Given the description of an element on the screen output the (x, y) to click on. 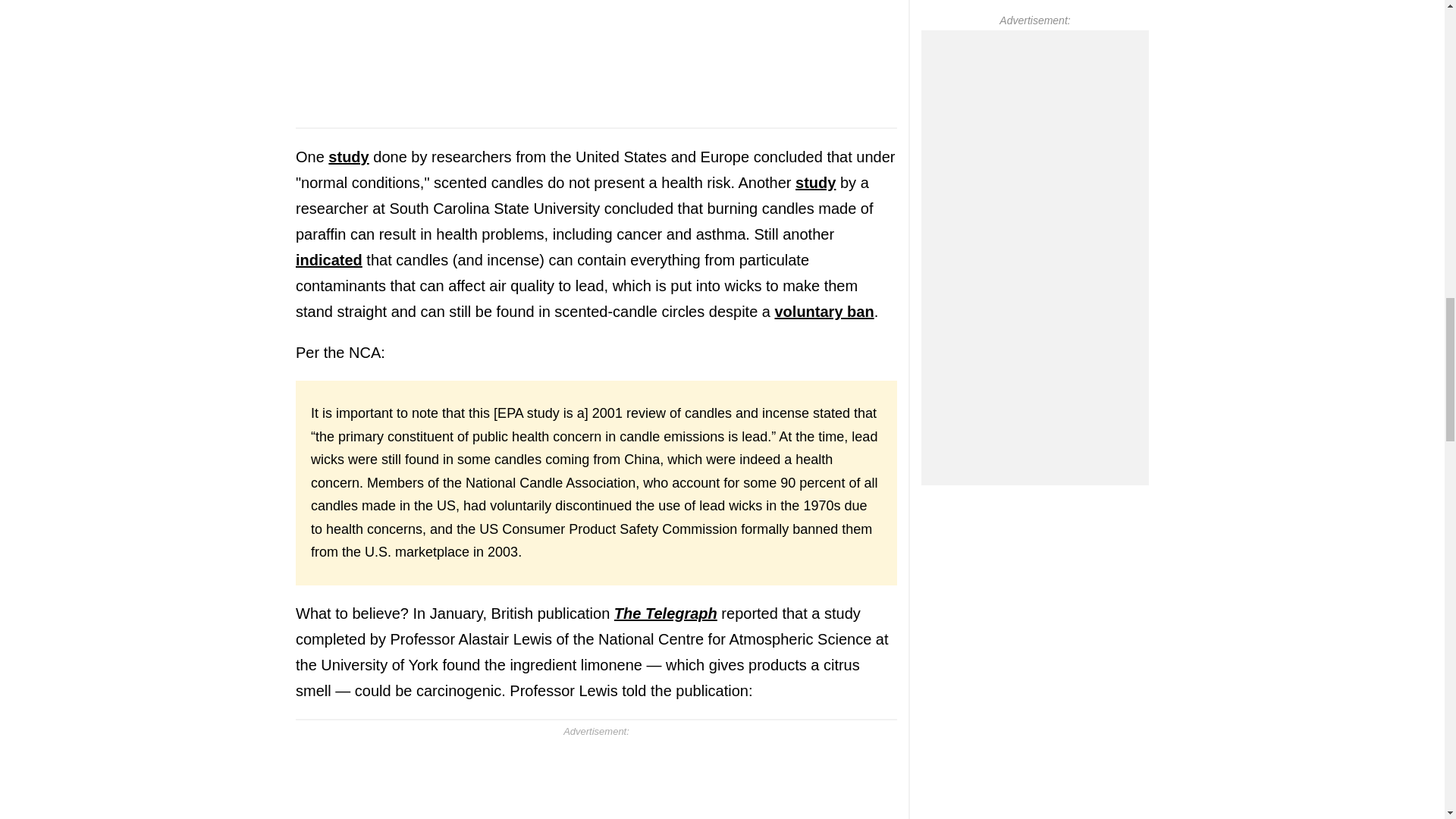
study (348, 156)
